Given the description of an element on the screen output the (x, y) to click on. 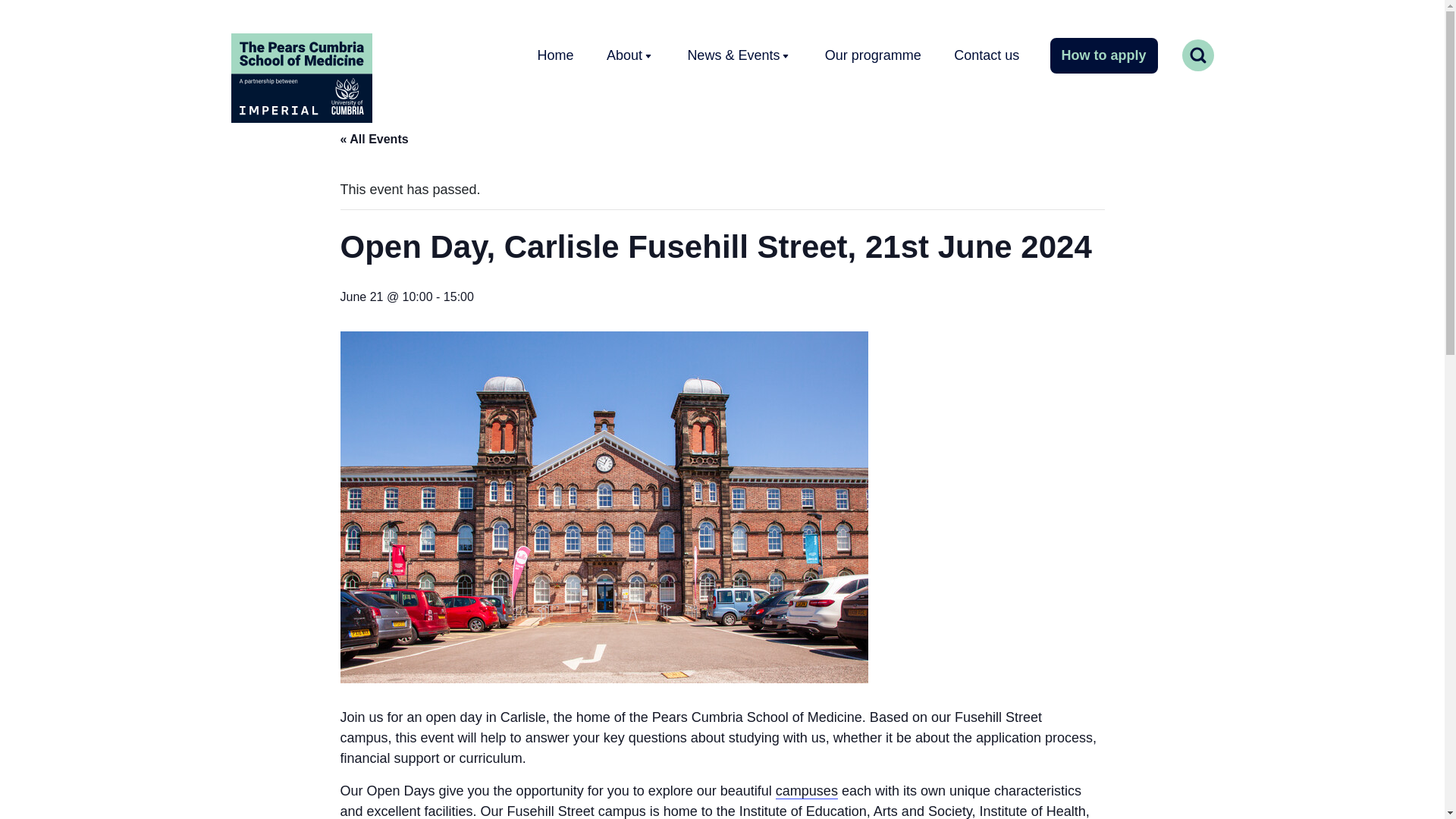
Search toggle (1196, 55)
How to apply (1103, 55)
campuses (807, 790)
Home (554, 55)
Search (1180, 55)
Contact us (987, 55)
About (630, 55)
Our programme (872, 55)
